Given the description of an element on the screen output the (x, y) to click on. 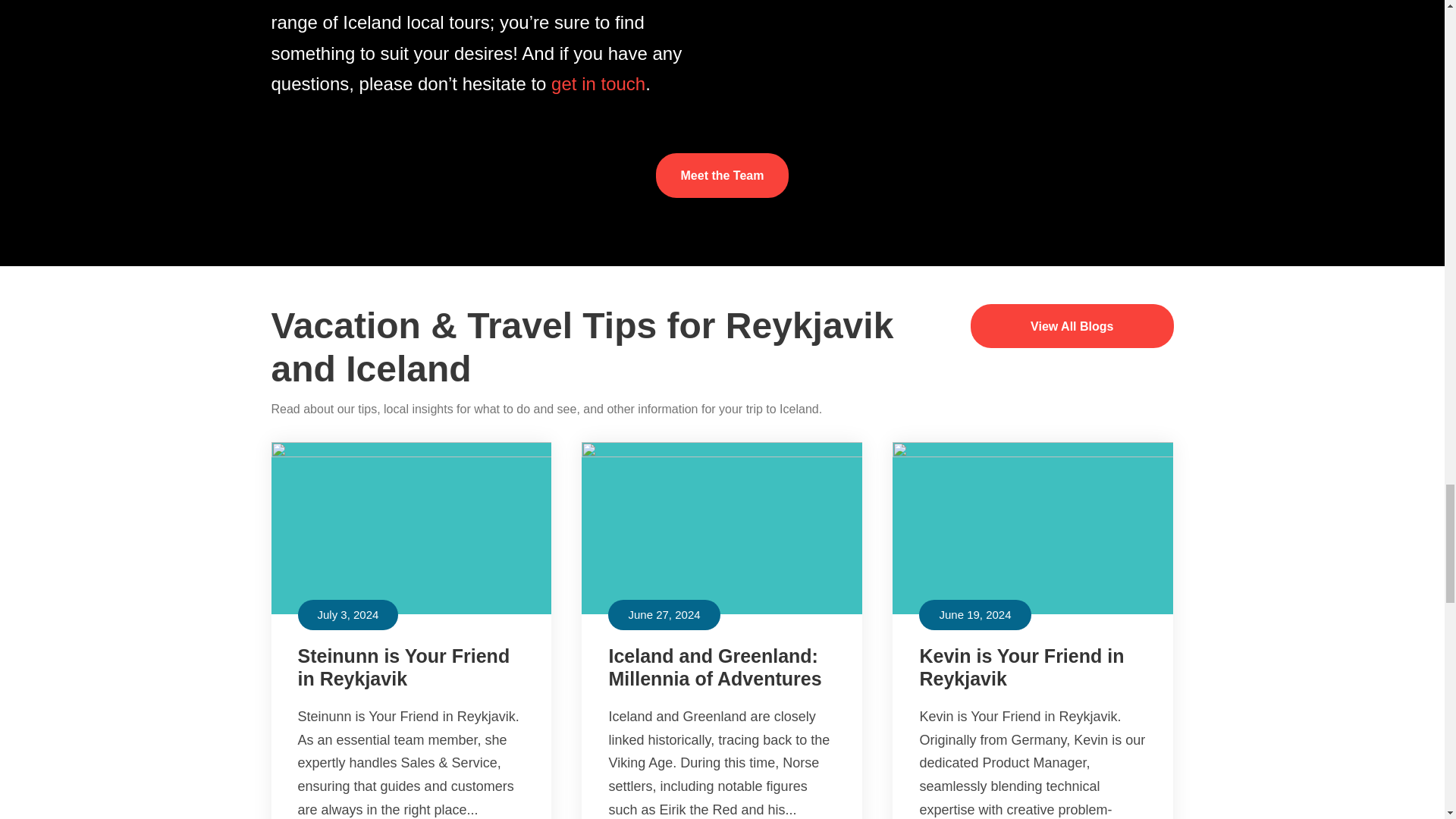
Kevin-Your-Friend-in-Reykjavik-YFIR-2 (1032, 528)
steinunn (410, 528)
